Given the description of an element on the screen output the (x, y) to click on. 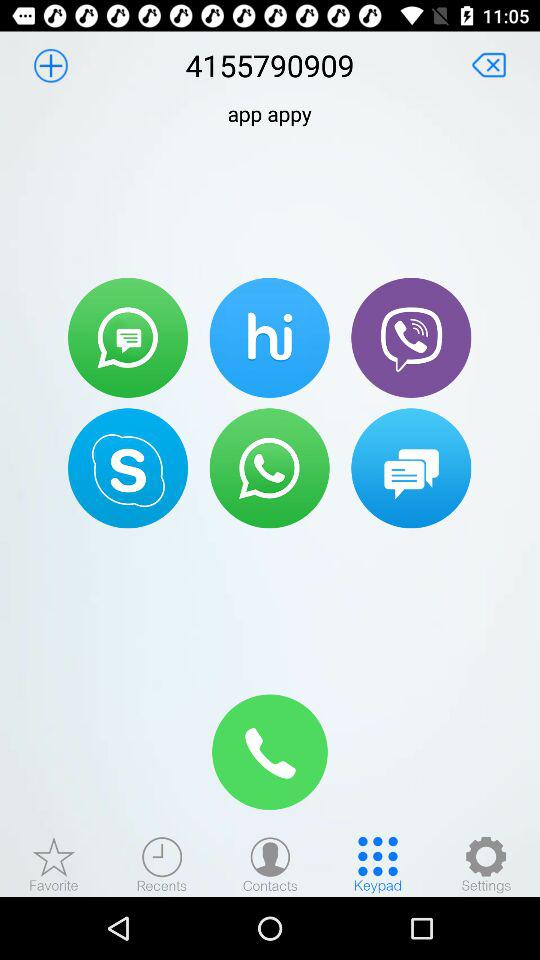
phone calls (411, 337)
